Given the description of an element on the screen output the (x, y) to click on. 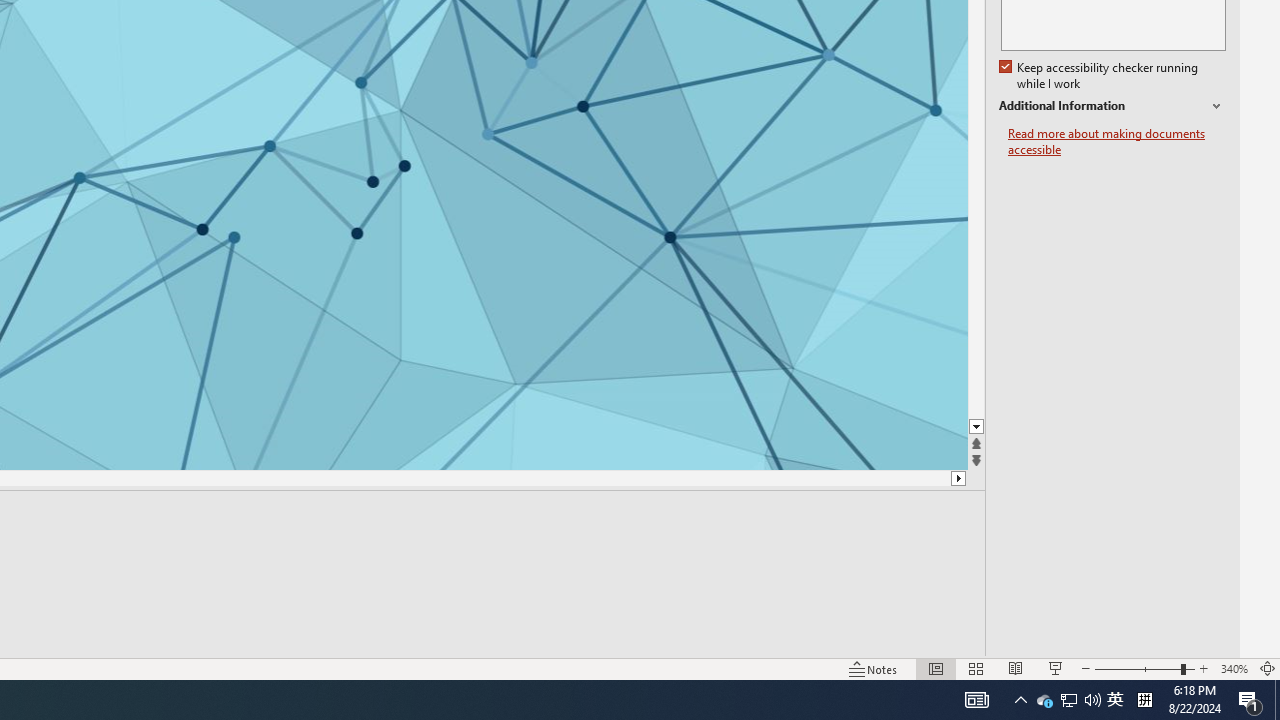
Additional Information (1112, 106)
Keep accessibility checker running while I work (1099, 76)
Zoom 340% (1234, 668)
Read more about making documents accessible (1117, 142)
